Given the description of an element on the screen output the (x, y) to click on. 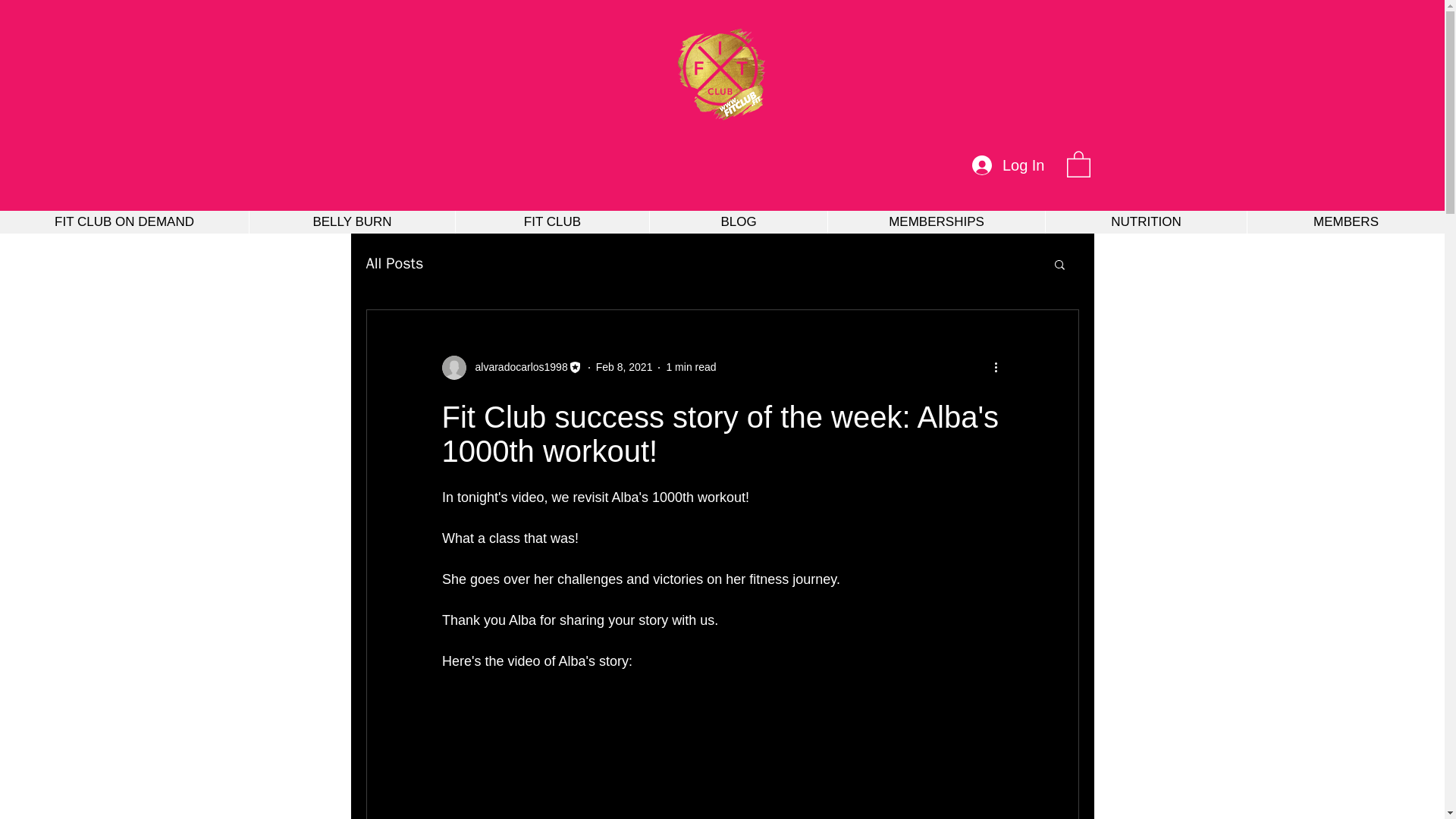
MEMBERSHIPS (936, 221)
All Posts (394, 263)
NUTRITION (1145, 221)
alvaradocarlos1998 (516, 367)
FIT CLUB ON DEMAND (124, 221)
BELLY BURN (351, 221)
Log In (1007, 164)
Feb 8, 2021 (623, 367)
FIT CLUB (551, 221)
BLOG (738, 221)
